Given the description of an element on the screen output the (x, y) to click on. 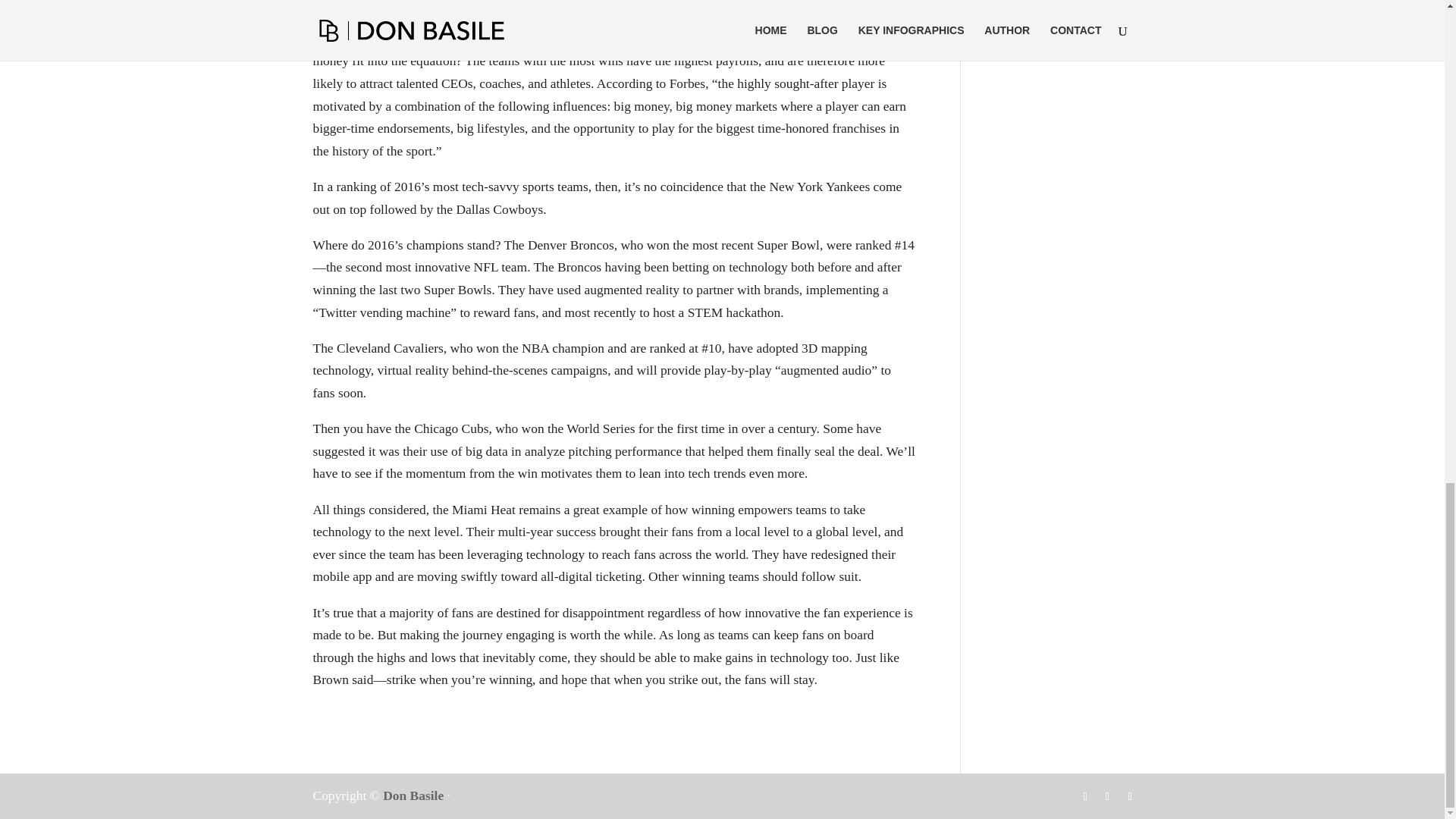
Don Basile (413, 795)
Don Basile (413, 795)
